Given the description of an element on the screen output the (x, y) to click on. 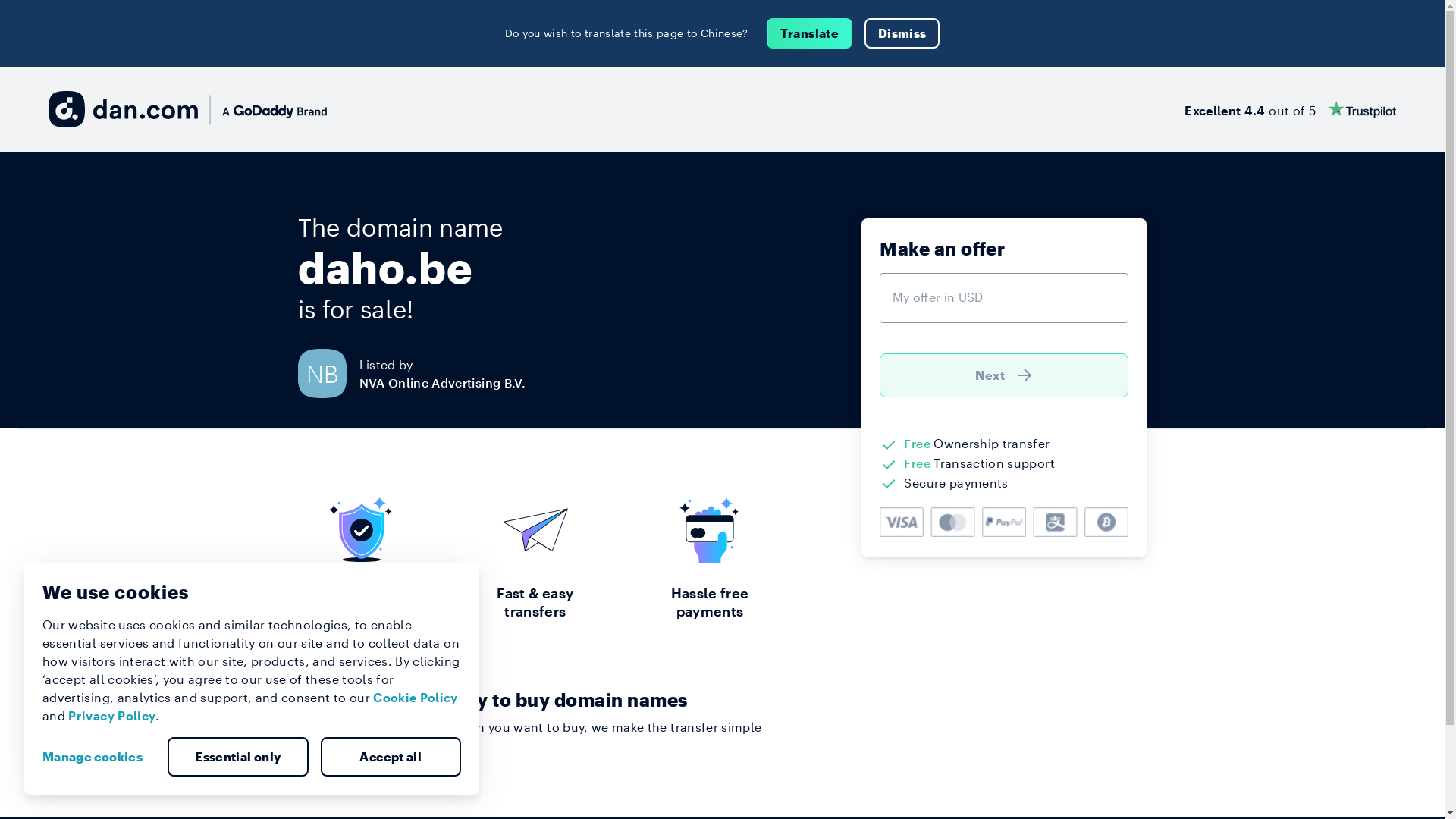
Accept all Element type: text (390, 756)
Translate Element type: text (809, 33)
Manage cookies Element type: text (98, 756)
Essential only Element type: text (237, 756)
Next
) Element type: text (1003, 375)
Cookie Policy Element type: text (415, 697)
Privacy Policy Element type: text (111, 715)
Excellent 4.4 out of 5 Element type: text (1290, 109)
Dismiss Element type: text (901, 33)
